Given the description of an element on the screen output the (x, y) to click on. 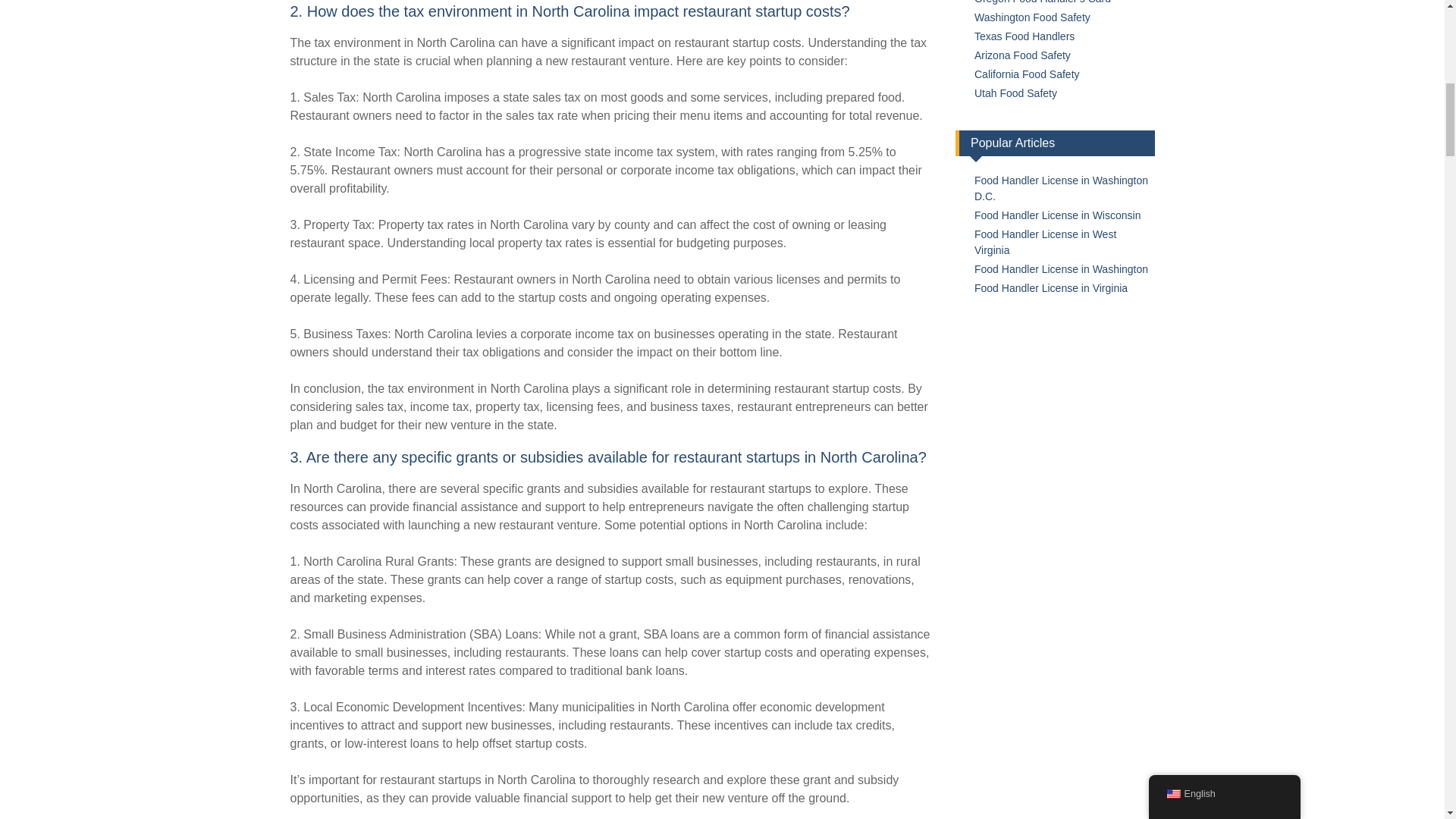
Utah Food Safety (1015, 92)
Arizona Food Safety (1022, 55)
Texas Food Handlers (1024, 36)
Washington Food Safety (1032, 17)
California Food Safety (1027, 73)
